Given the description of an element on the screen output the (x, y) to click on. 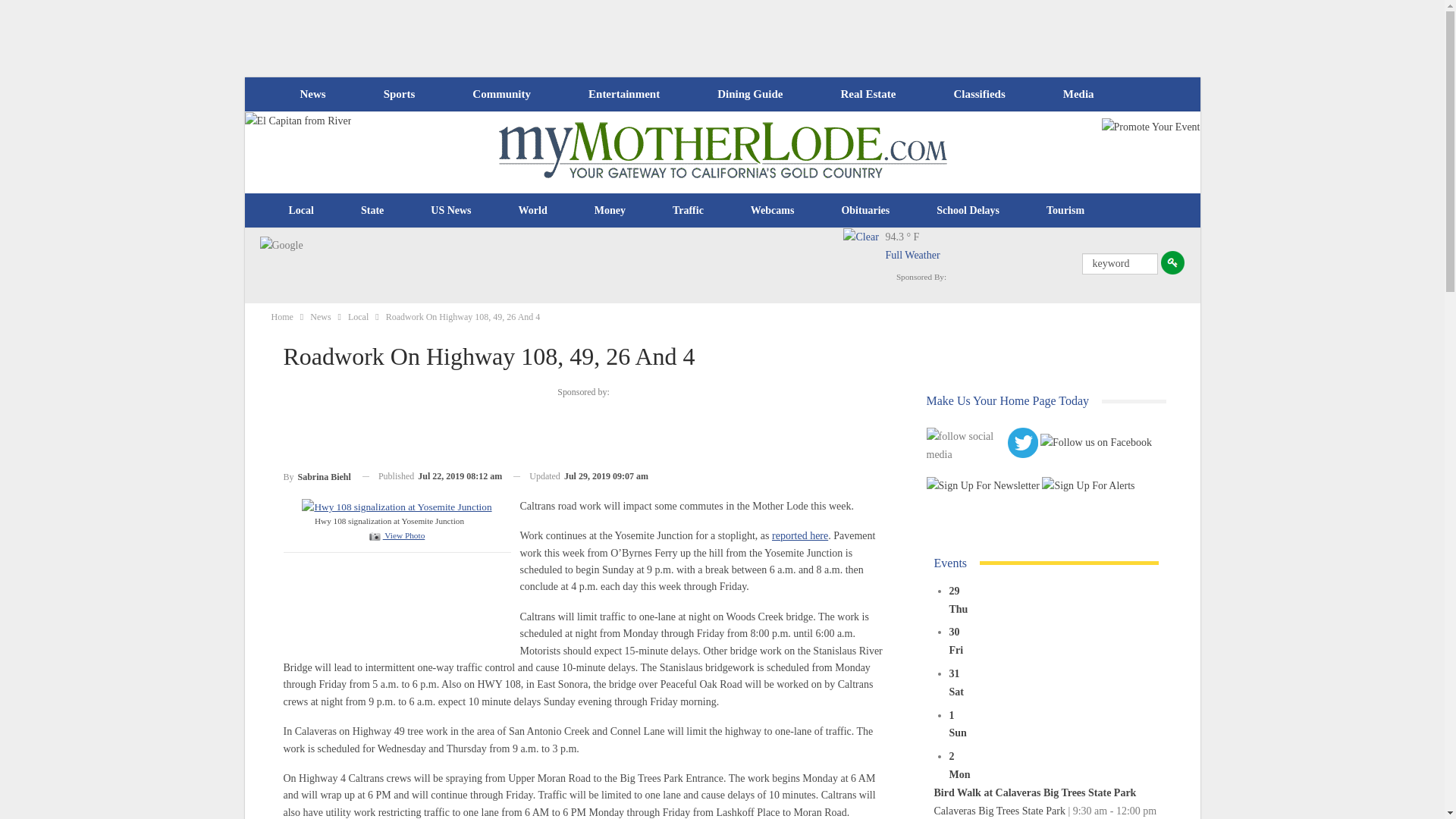
Traffic (687, 210)
Tourism (1065, 210)
Money (609, 210)
Media (1078, 93)
Obituaries (865, 210)
Photo by Tori James (396, 505)
Classifieds (979, 93)
